Given the description of an element on the screen output the (x, y) to click on. 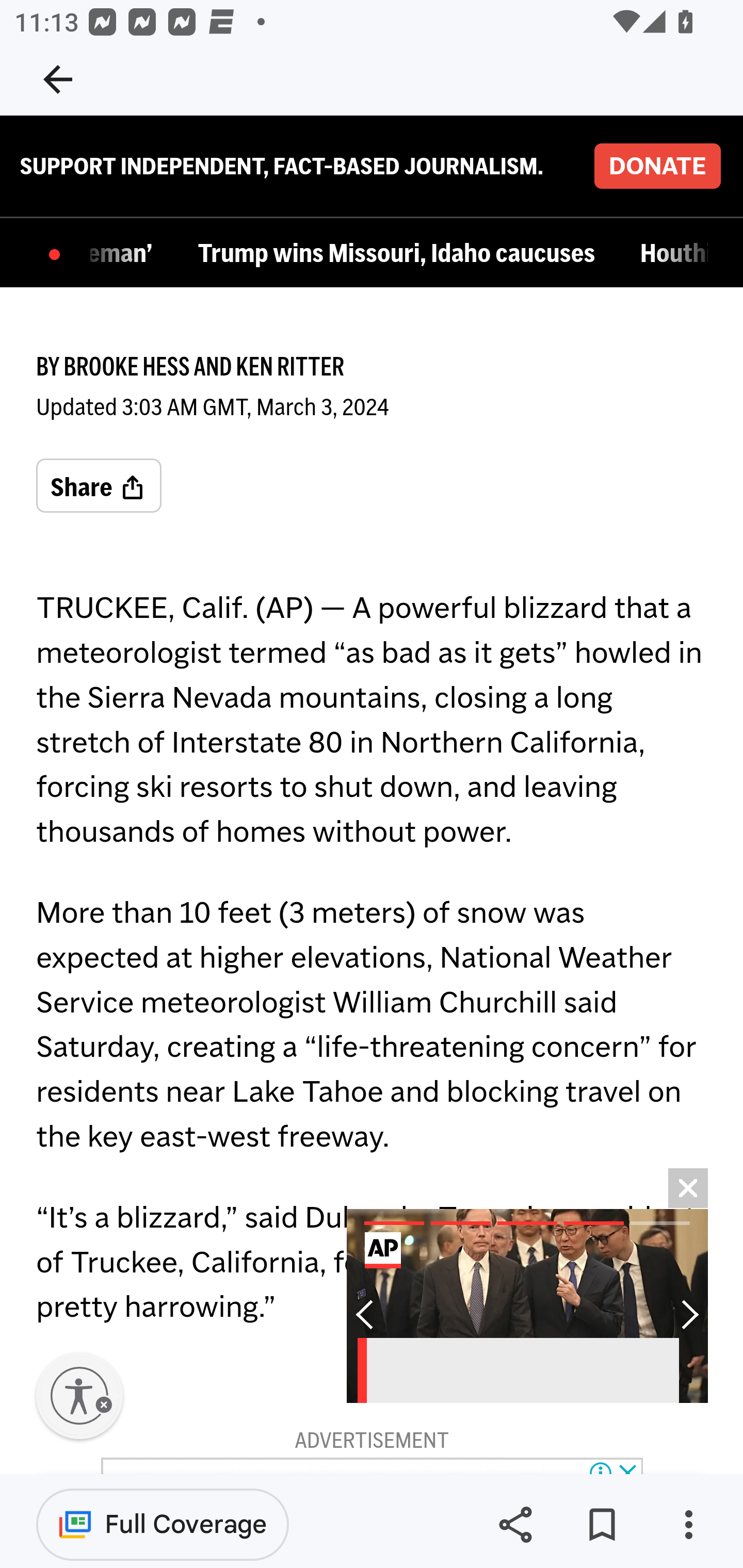
Navigate up (57, 79)
DONATE (657, 167)
Adam Sandler in ‘Spaceman’ (126, 254)
Trump wins Missouri, Idaho caucuses (400, 254)
Share (99, 486)
Enable accessibility (79, 1396)
Share (514, 1524)
Save for later (601, 1524)
More options (688, 1524)
Full Coverage (162, 1524)
